Given the description of an element on the screen output the (x, y) to click on. 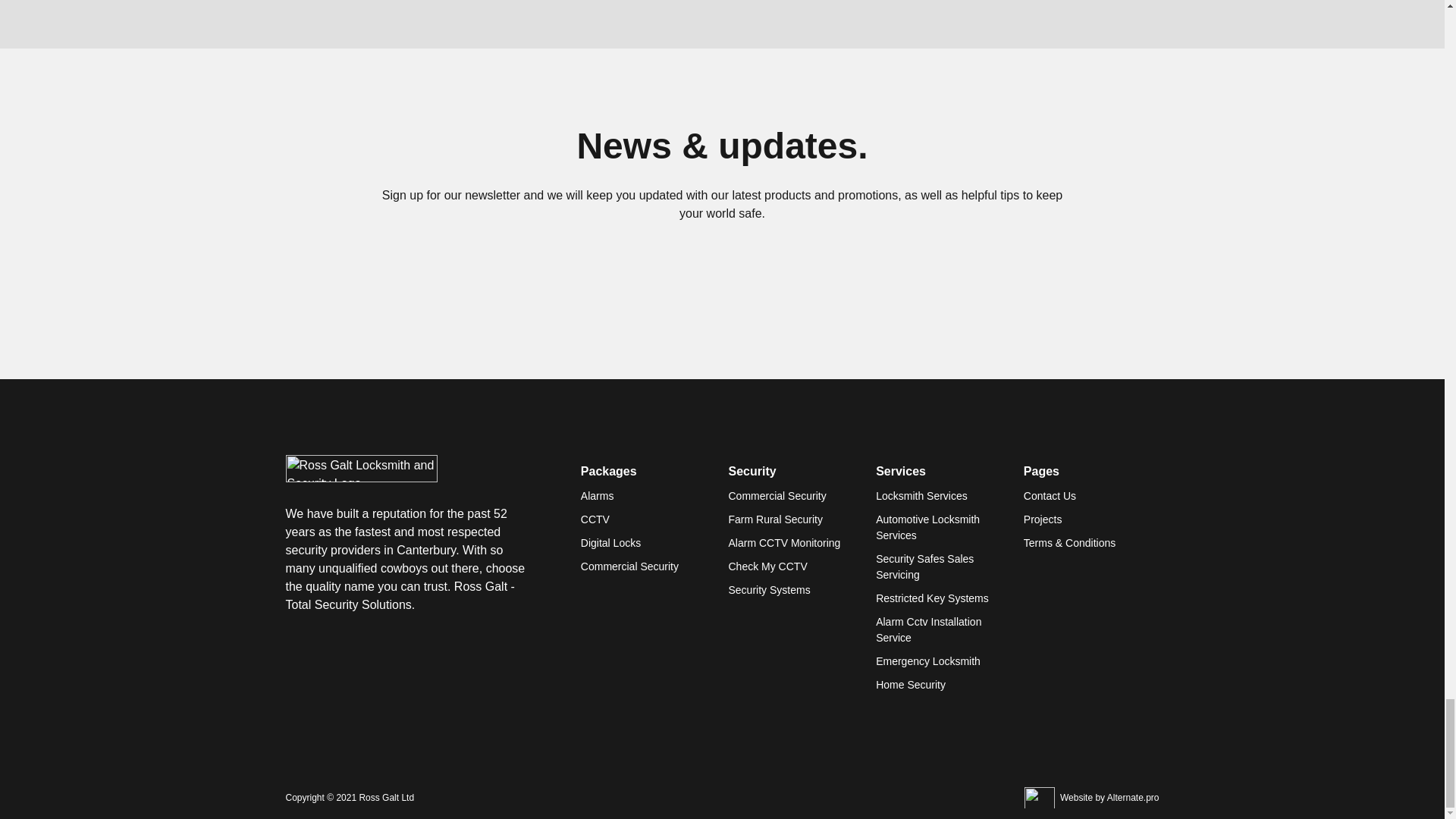
Submit (824, 295)
CCTV (595, 519)
Alarms (597, 496)
Commercial Security (629, 566)
Digital Locks (610, 543)
